Given the description of an element on the screen output the (x, y) to click on. 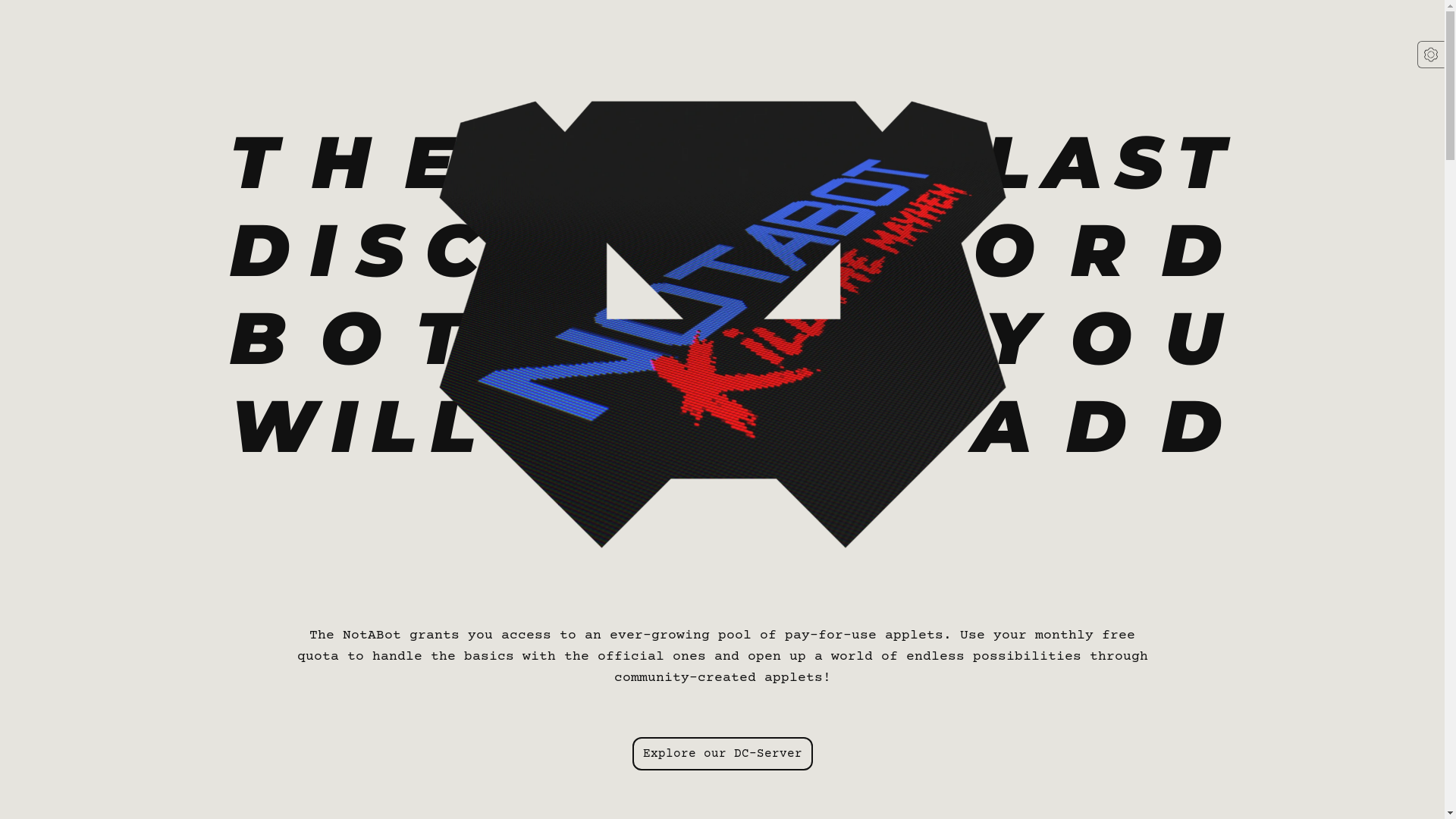
Explore our DC-Server Element type: text (722, 753)
